Given the description of an element on the screen output the (x, y) to click on. 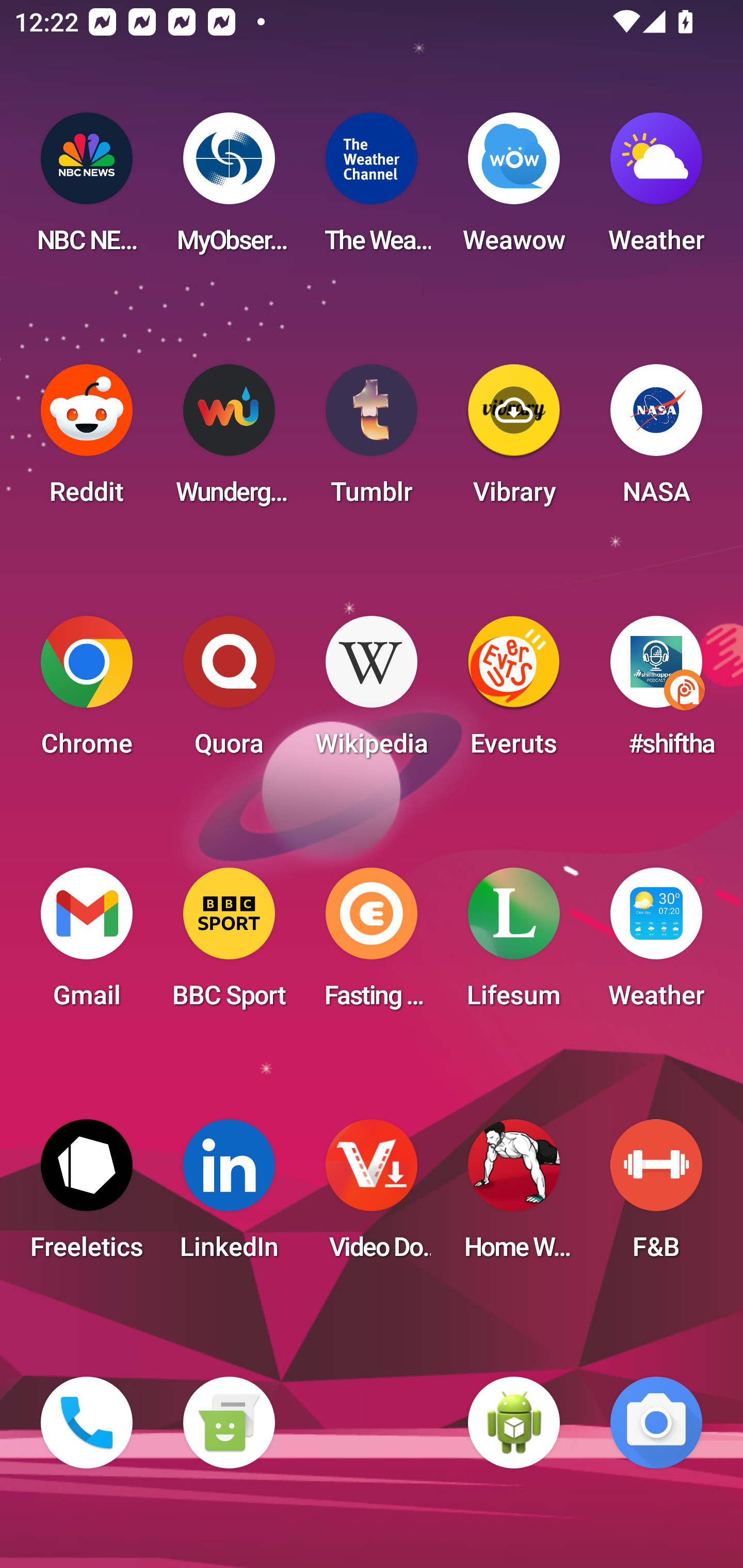
NBC NEWS (86, 188)
MyObservatory (228, 188)
The Weather Channel (371, 188)
Weawow (513, 188)
Weather (656, 188)
Reddit (86, 440)
Wunderground (228, 440)
Tumblr (371, 440)
Vibrary (513, 440)
NASA (656, 440)
Chrome (86, 692)
Quora (228, 692)
Wikipedia (371, 692)
Everuts (513, 692)
#shifthappens in the Digital Workplace Podcast (656, 692)
Gmail (86, 943)
BBC Sport (228, 943)
Fasting Coach (371, 943)
Lifesum (513, 943)
Weather (656, 943)
Freeletics (86, 1195)
LinkedIn (228, 1195)
Video Downloader & Ace Player (371, 1195)
Home Workout (513, 1195)
F&B (656, 1195)
Phone (86, 1422)
Messaging (228, 1422)
WebView Browser Tester (513, 1422)
Camera (656, 1422)
